Given the description of an element on the screen output the (x, y) to click on. 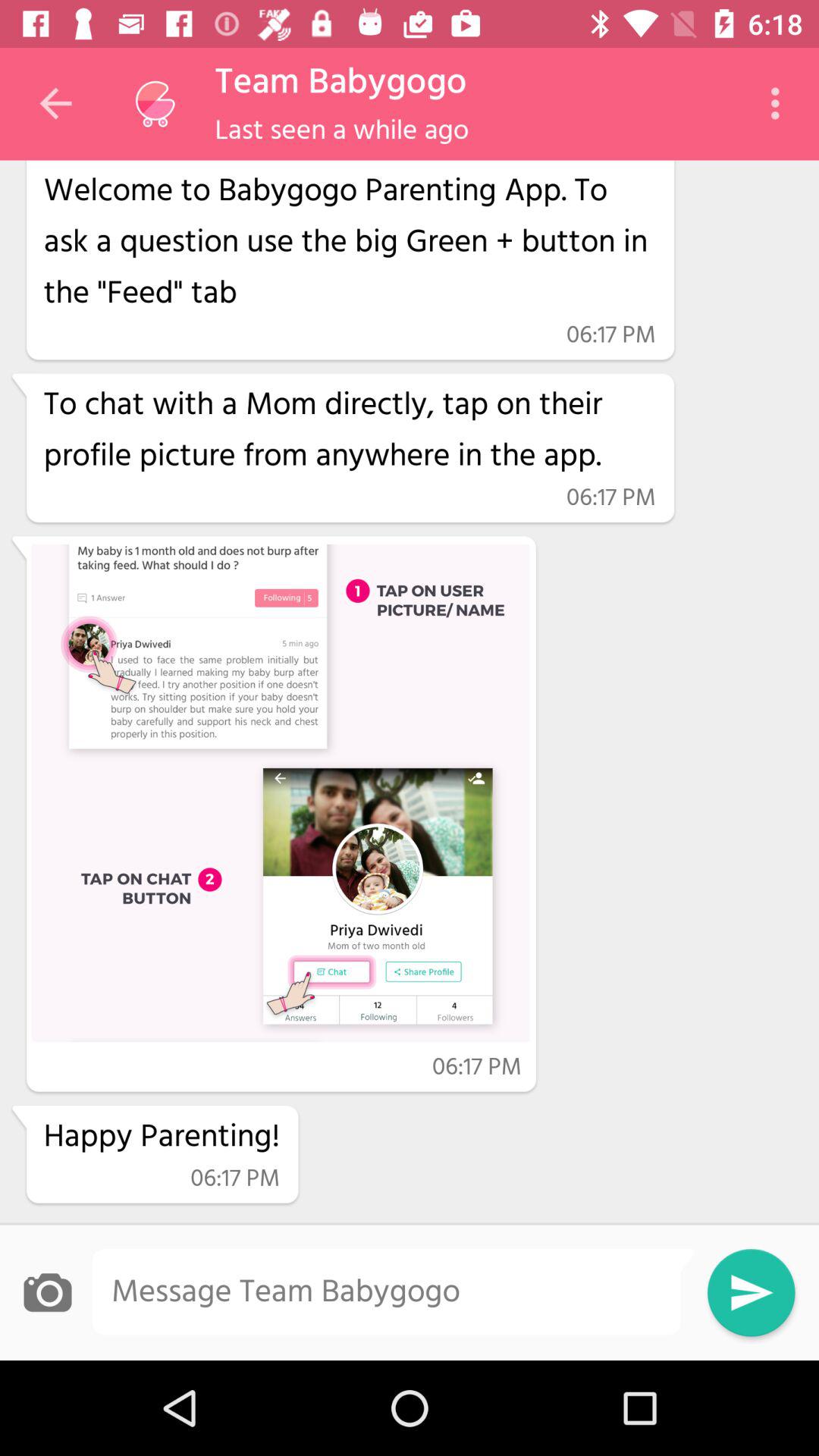
send button (751, 1292)
